Given the description of an element on the screen output the (x, y) to click on. 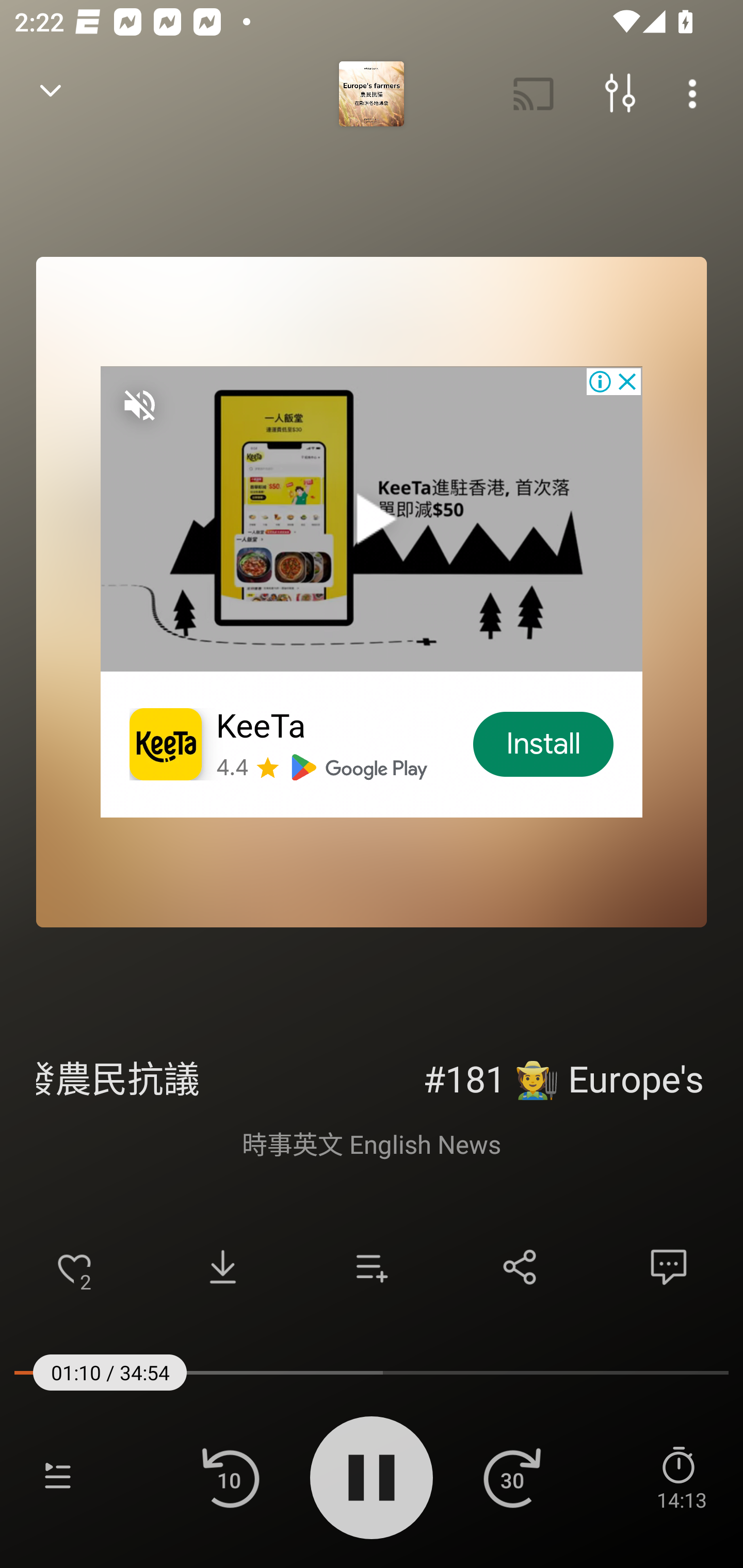
Cast. Disconnected (533, 93)
 Back (50, 94)
KeeTa 4.4 Install Install (371, 591)
Install (543, 743)
#181 🧑‍🌾 Europe's farmers 歐洲各地爆發農民抗議 (371, 1076)
時事英文 English News (371, 1142)
Comments (668, 1266)
Add to Favorites (73, 1266)
Share (519, 1266)
Sleep Timer  14:13 (681, 1477)
 Playlist (57, 1477)
